Given the description of an element on the screen output the (x, y) to click on. 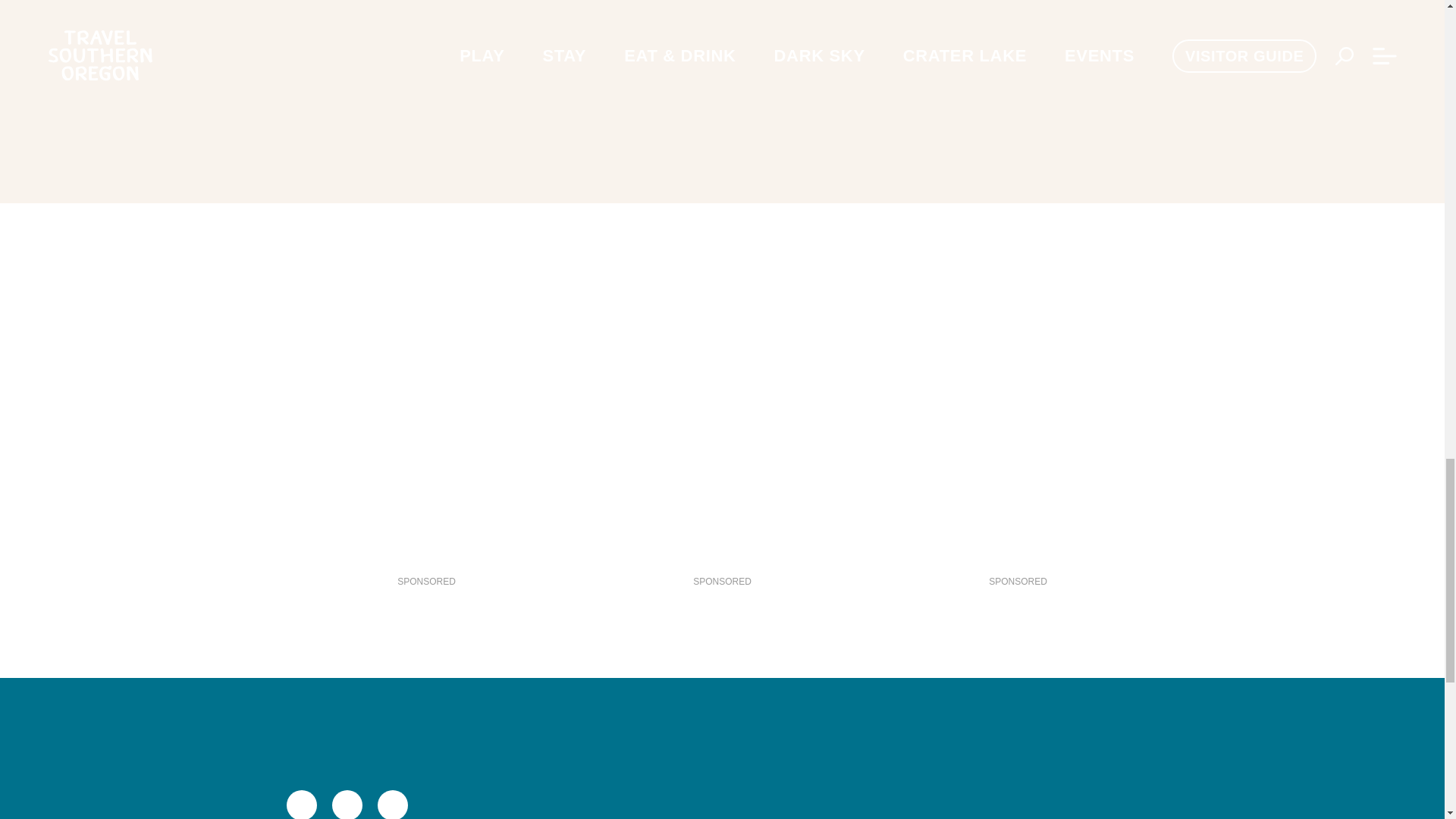
Link to Instagram in new tab (392, 804)
Link to Facebook in new tab (301, 804)
Link to Twitter in new tab (346, 804)
